Given the description of an element on the screen output the (x, y) to click on. 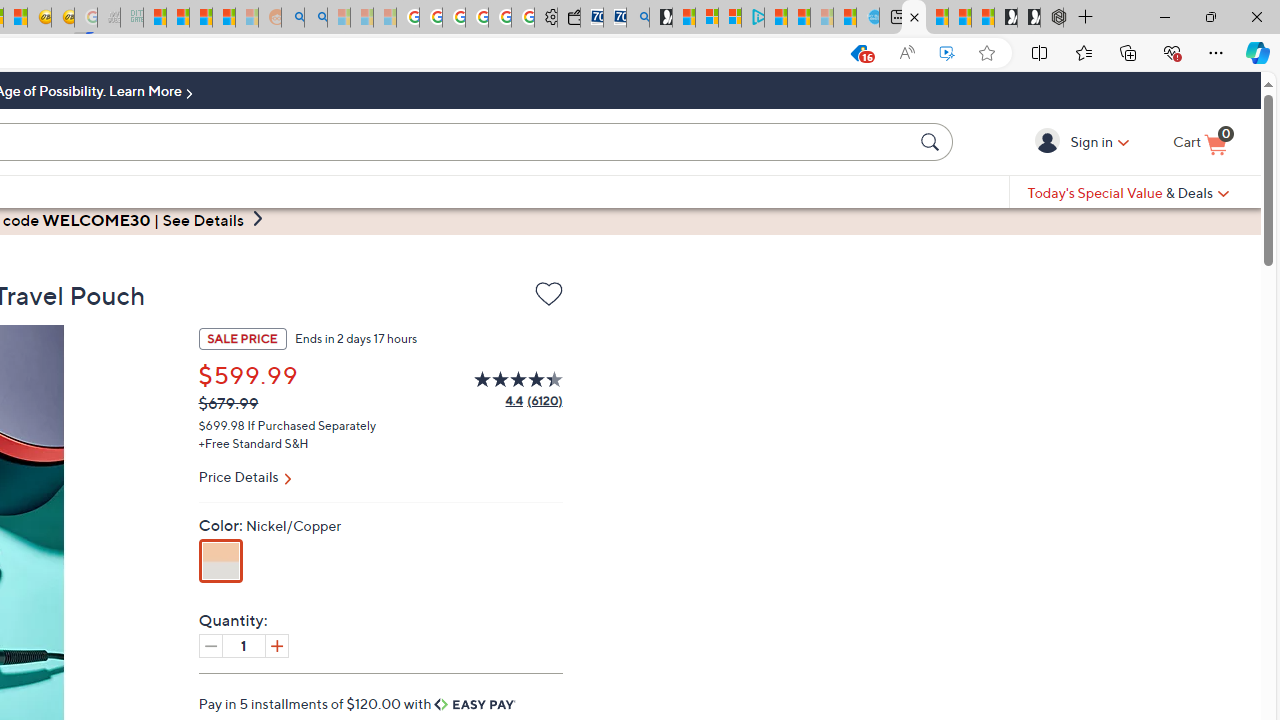
Play Free Online Games | Games from Microsoft Start (1028, 17)
Decrease quantity by 1 (210, 645)
Cheap Car Rentals - Save70.com (614, 17)
Add to Wish List (548, 294)
Microsoft Start - Sleeping (822, 17)
Today's Special Value & Deals (1128, 192)
Easy Pay (475, 703)
DITOGAMES AG Imprint - Sleeping (132, 17)
If Purchased Separately (312, 424)
